Given the description of an element on the screen output the (x, y) to click on. 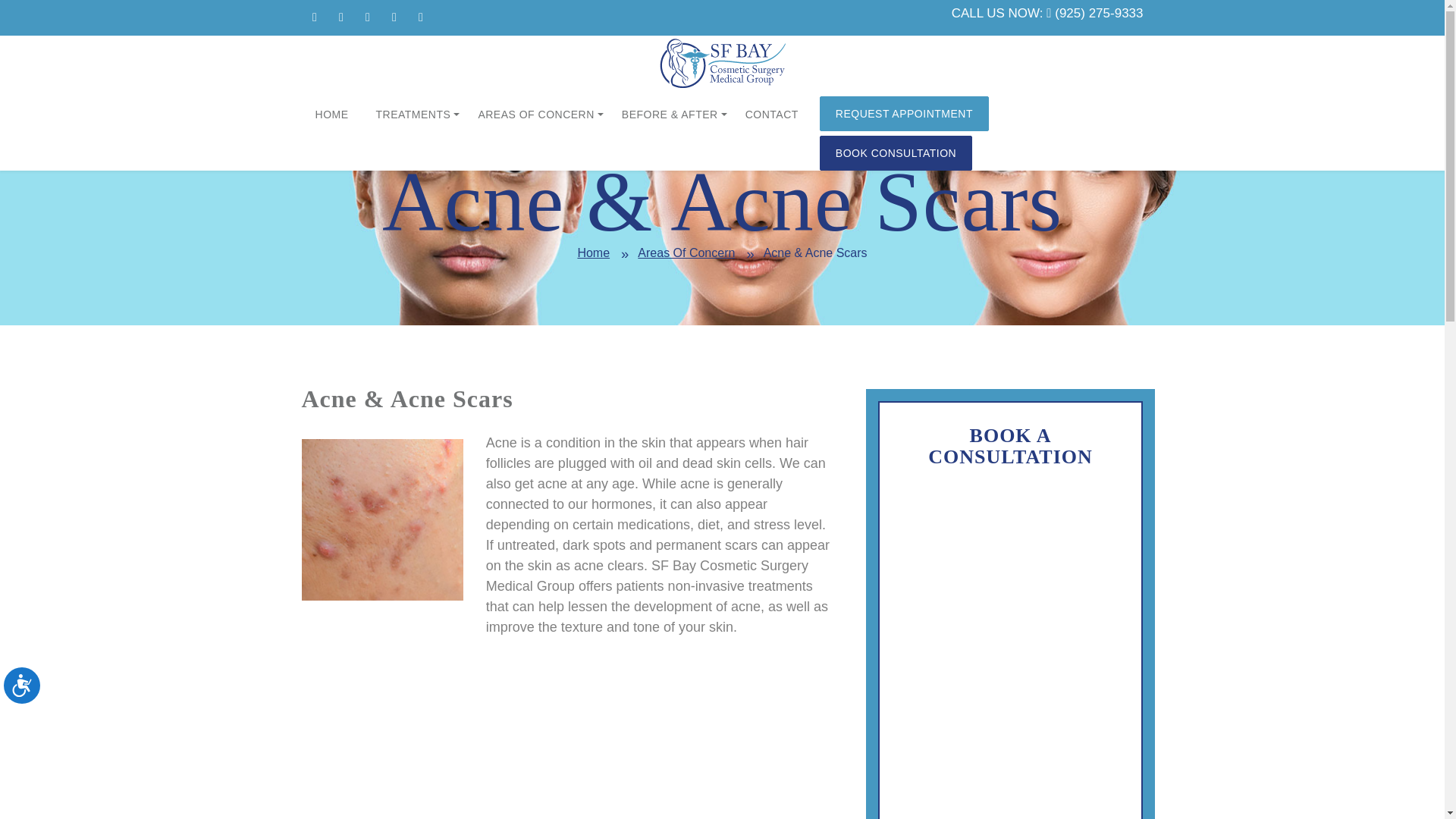
HOME (331, 115)
Accessibility (34, 697)
TREATMENTS (413, 115)
